Given the description of an element on the screen output the (x, y) to click on. 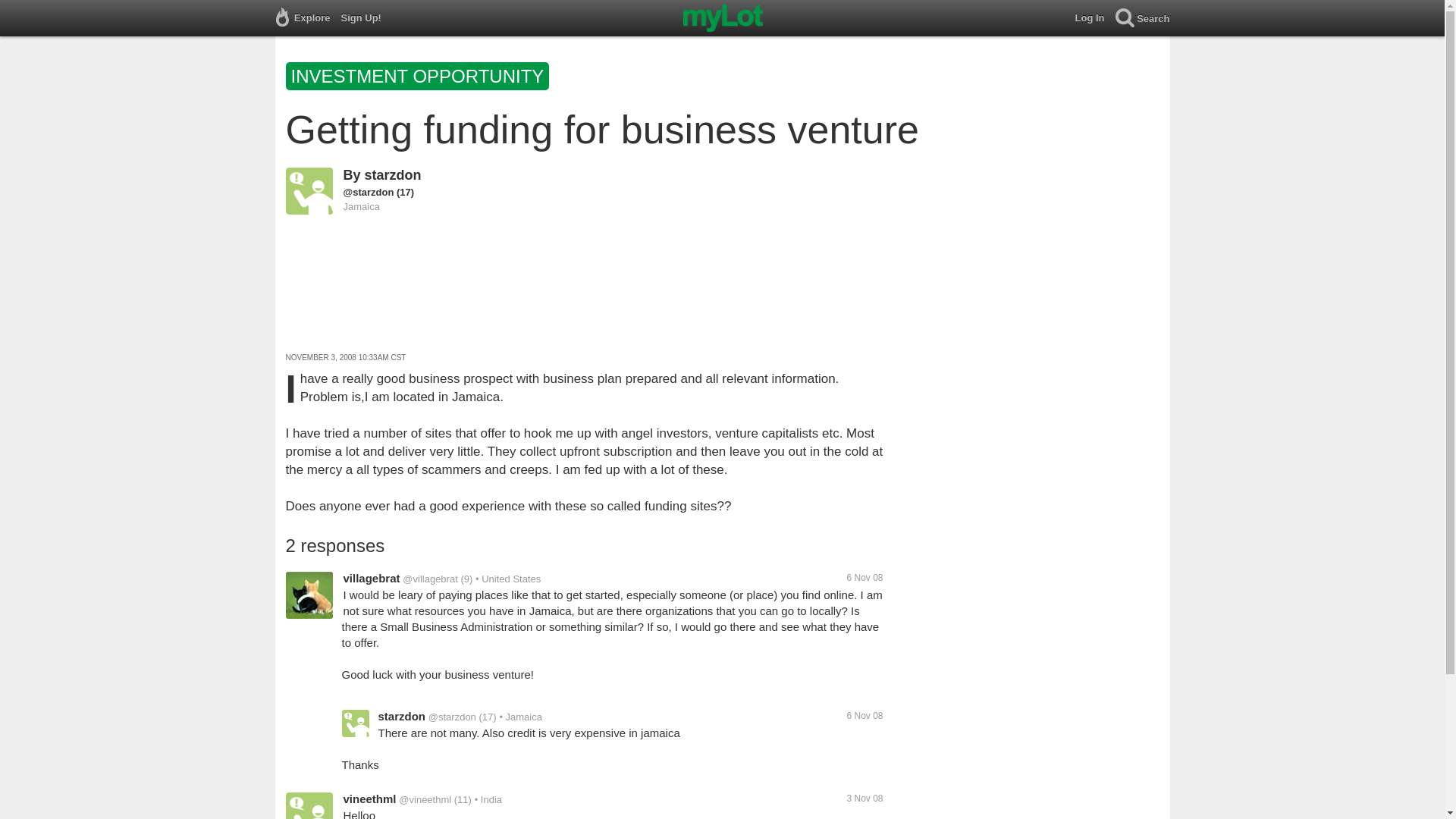
starzdon (401, 716)
vineethml (369, 798)
INVESTMENT OPPORTUNITY (418, 79)
starzdon (393, 174)
villagebrat (370, 577)
Log In (1095, 18)
Sign Up! (365, 18)
